Given the description of an element on the screen output the (x, y) to click on. 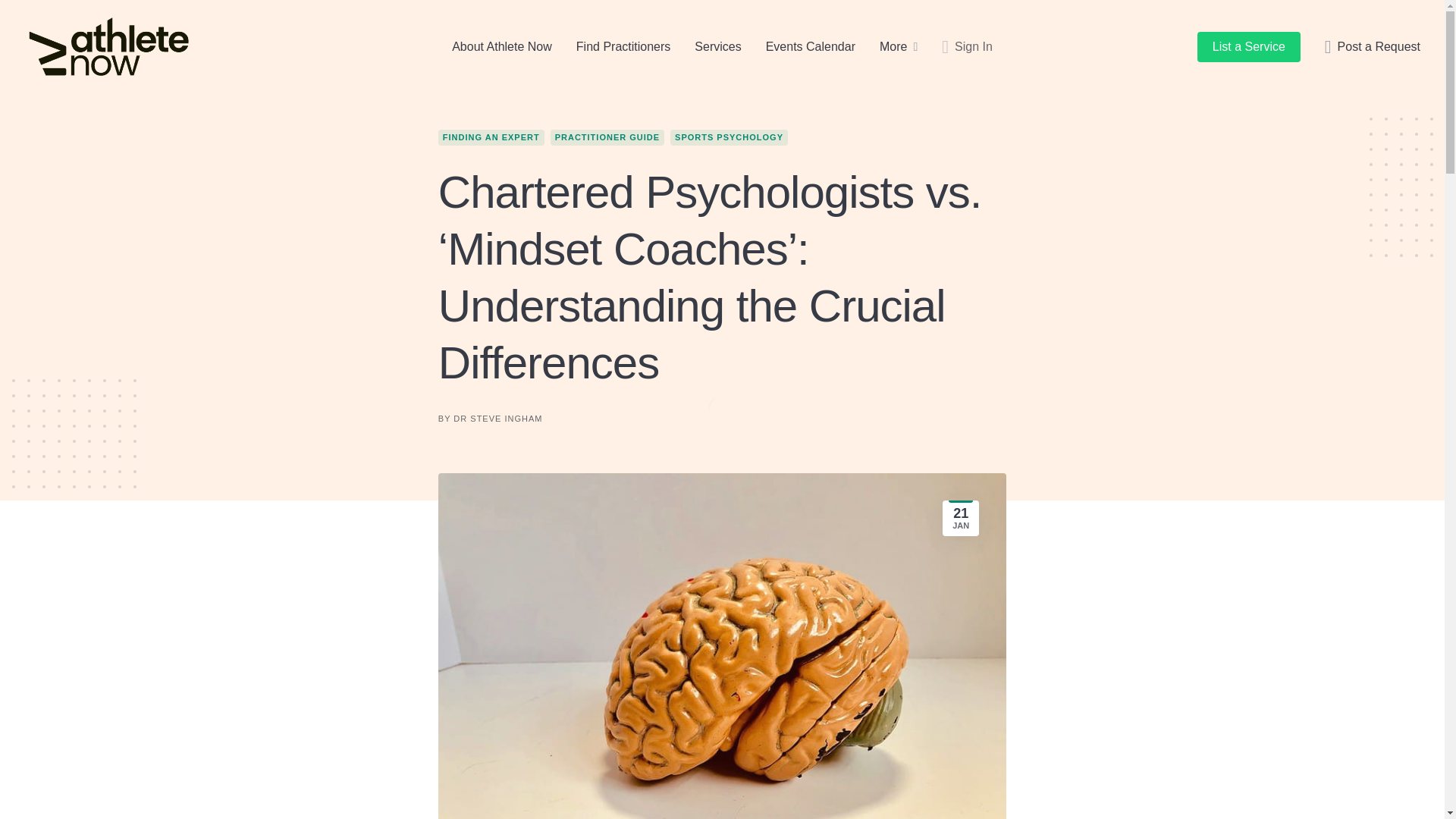
Find Practitioners (623, 46)
About Athlete Now (501, 46)
Sign In (967, 46)
List a Service (1248, 46)
SPORTS PSYCHOLOGY (728, 137)
Events Calendar (810, 46)
More (893, 46)
PRACTITIONER GUIDE (606, 137)
Services (717, 46)
Post a Request (1372, 46)
